Given the description of an element on the screen output the (x, y) to click on. 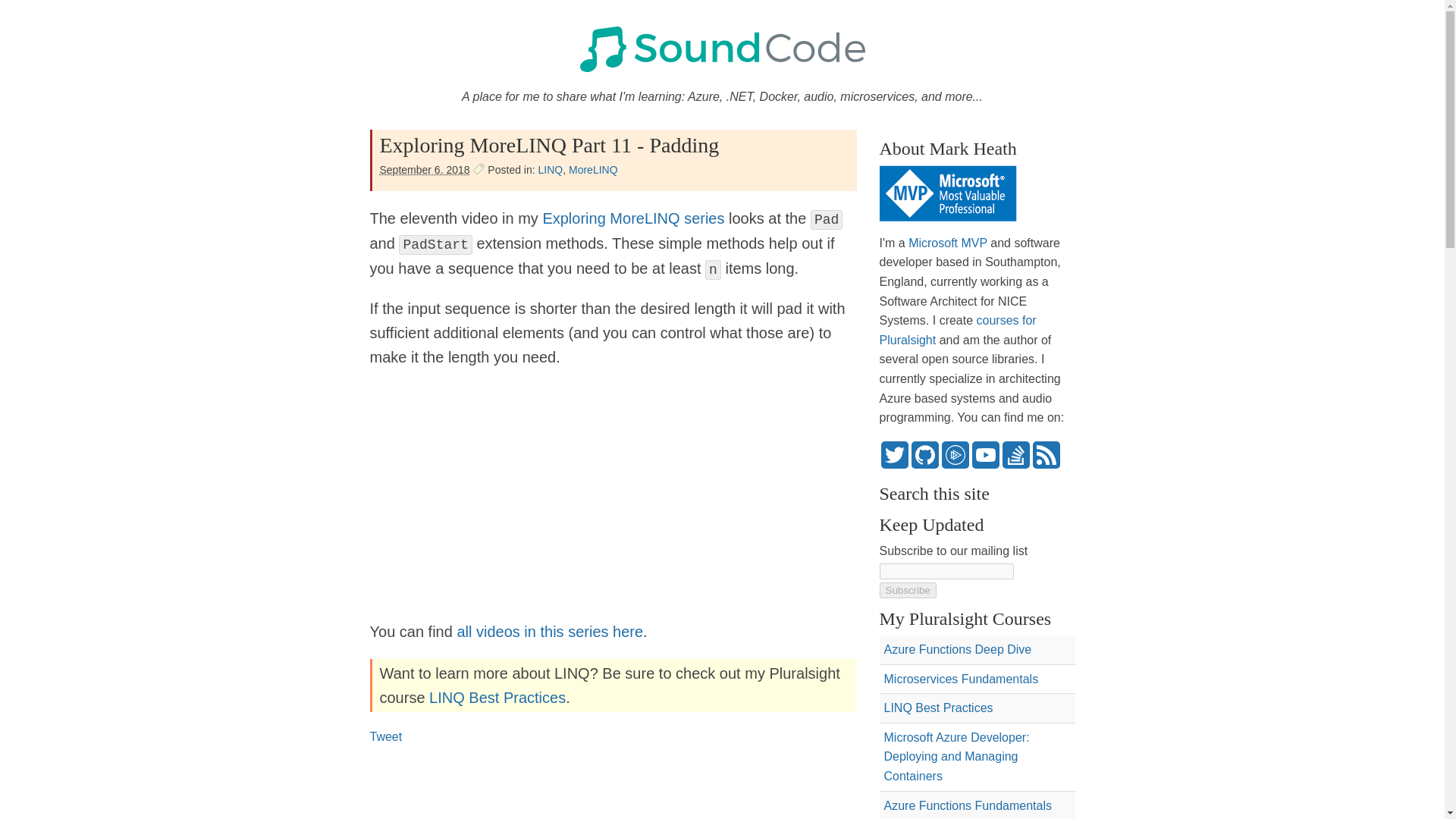
YouTube (985, 454)
Exploring MoreLINQ series (632, 217)
LINQ Best Practices (937, 707)
Azure Functions Deep Dive (957, 649)
RSS Feed (1045, 454)
Tweet (386, 736)
Microsoft Azure Developer: Deploying and Managing Containers (956, 756)
courses for Pluralsight (957, 329)
Microsoft MVP (947, 242)
Microservices Fundamentals (961, 678)
